Given the description of an element on the screen output the (x, y) to click on. 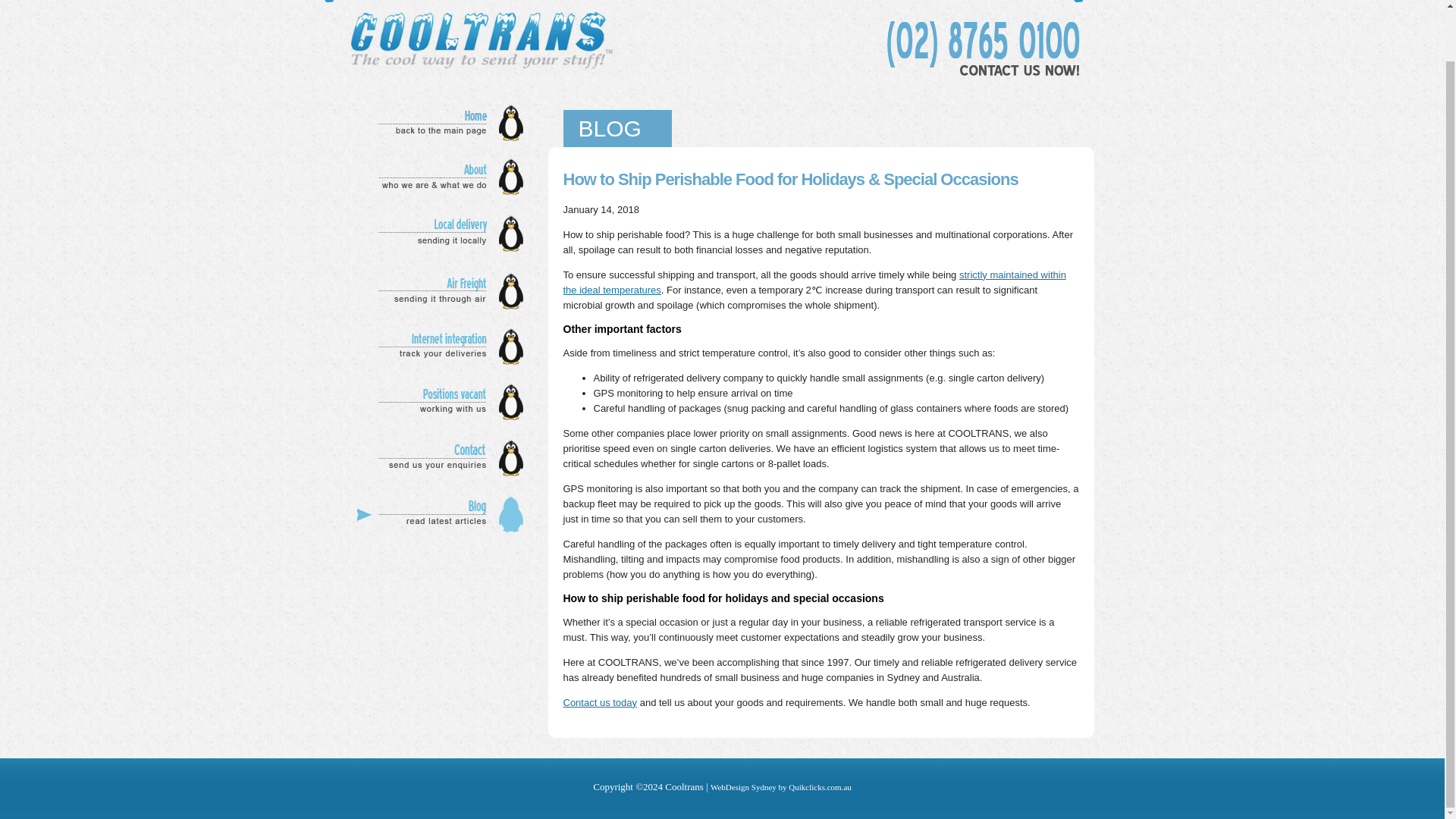
Home (443, 123)
Air Freight (443, 291)
Internet Integration (443, 345)
Positions Vacant (443, 402)
Blog (443, 514)
Local Delivery (443, 234)
About (443, 178)
Contact (443, 458)
Contact us today (599, 702)
strictly maintained within the ideal temperatures (813, 282)
